Given the description of an element on the screen output the (x, y) to click on. 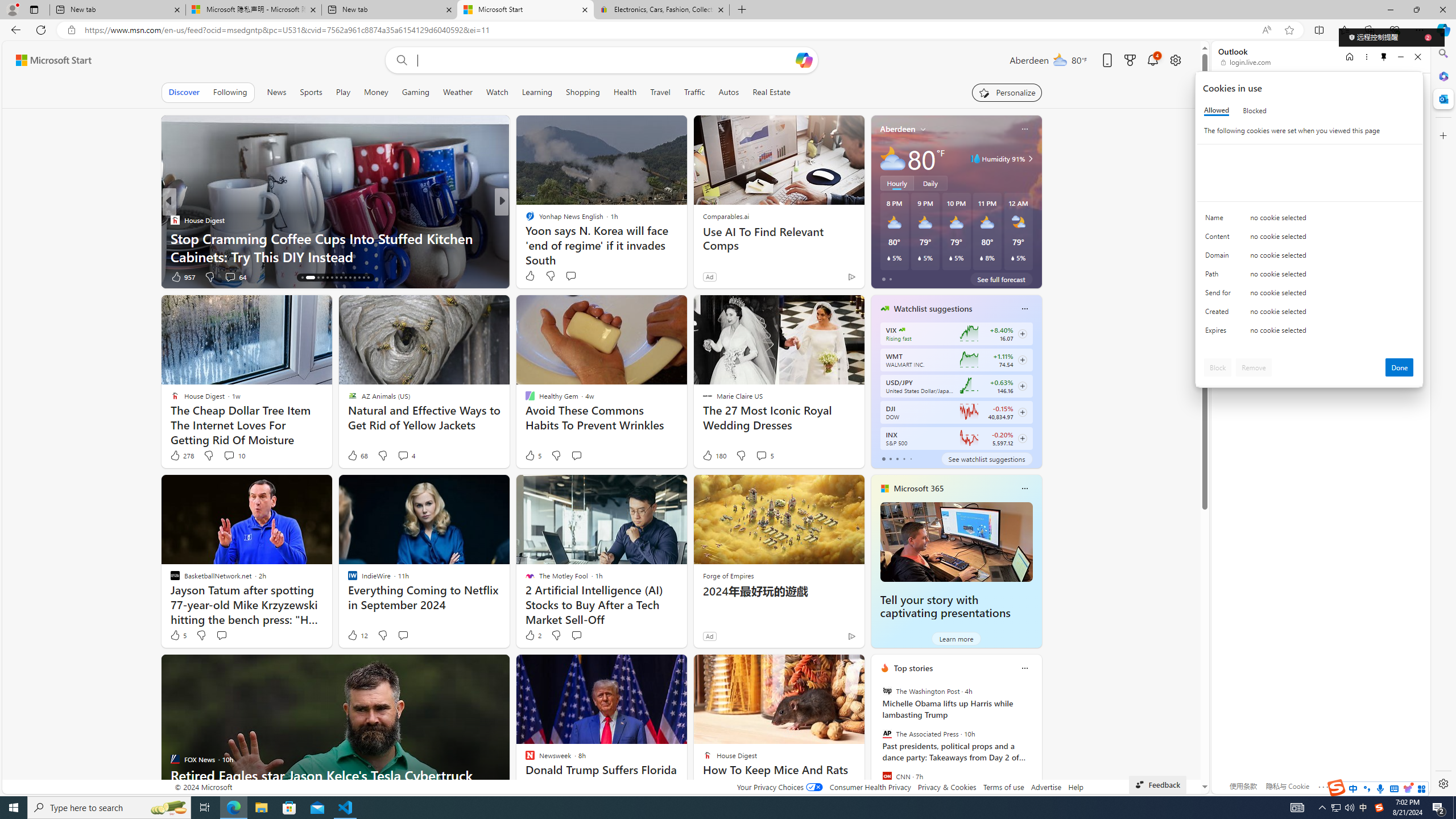
View comments 4 Comment (406, 455)
TheStreet (524, 219)
AutomationID: tab-17 (317, 277)
View comments 64 Comment (234, 276)
Aspose (531, 238)
AutomationID: tab-26 (358, 277)
Forge of Empires (727, 574)
